Given the description of an element on the screen output the (x, y) to click on. 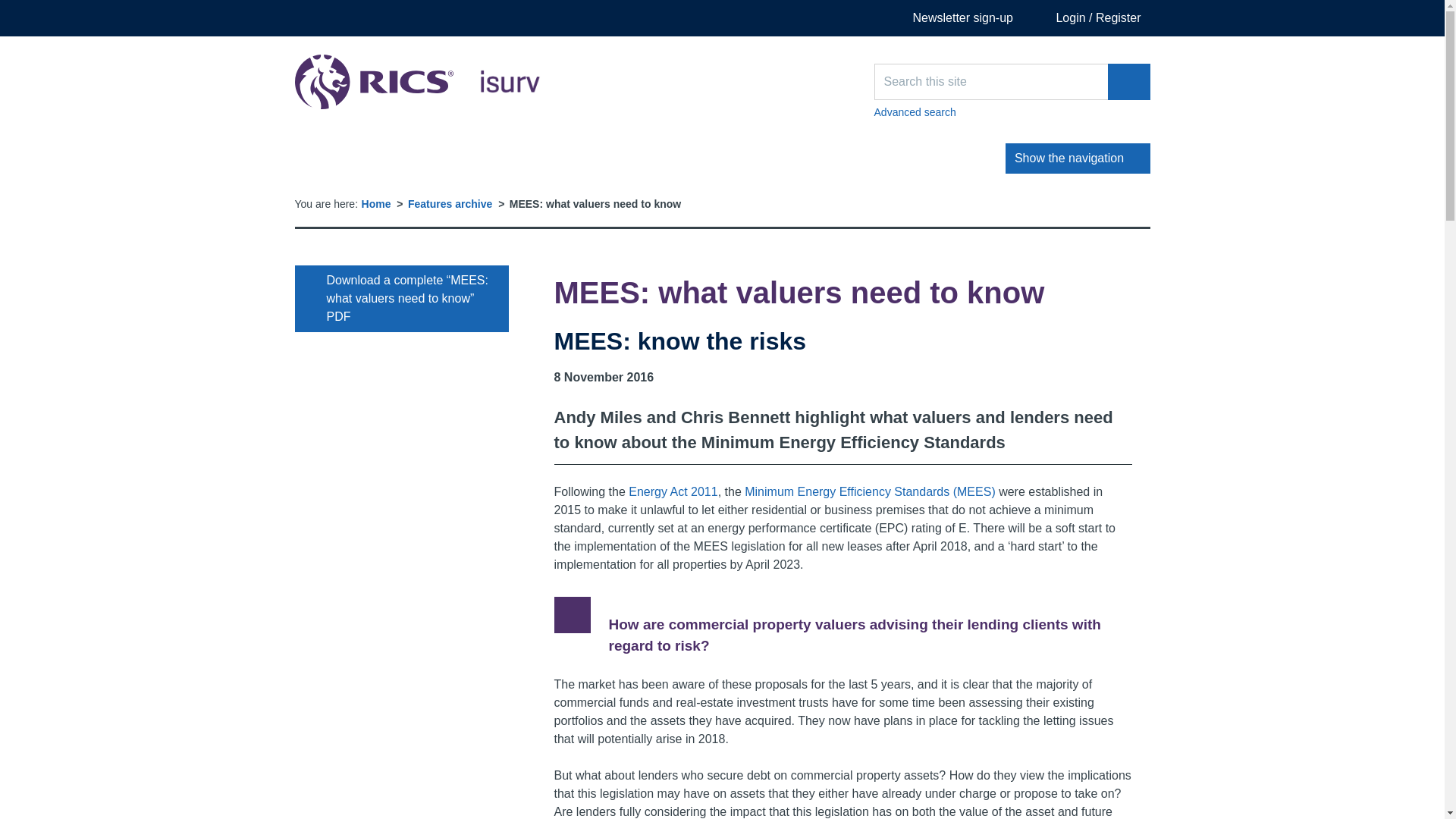
Show the navigation (1078, 158)
Advanced search (1012, 112)
Features archive (449, 203)
Newsletter sign-up (952, 18)
Channels (374, 158)
Energy Act 2011 (672, 491)
Home (376, 203)
Search (1128, 81)
